Given the description of an element on the screen output the (x, y) to click on. 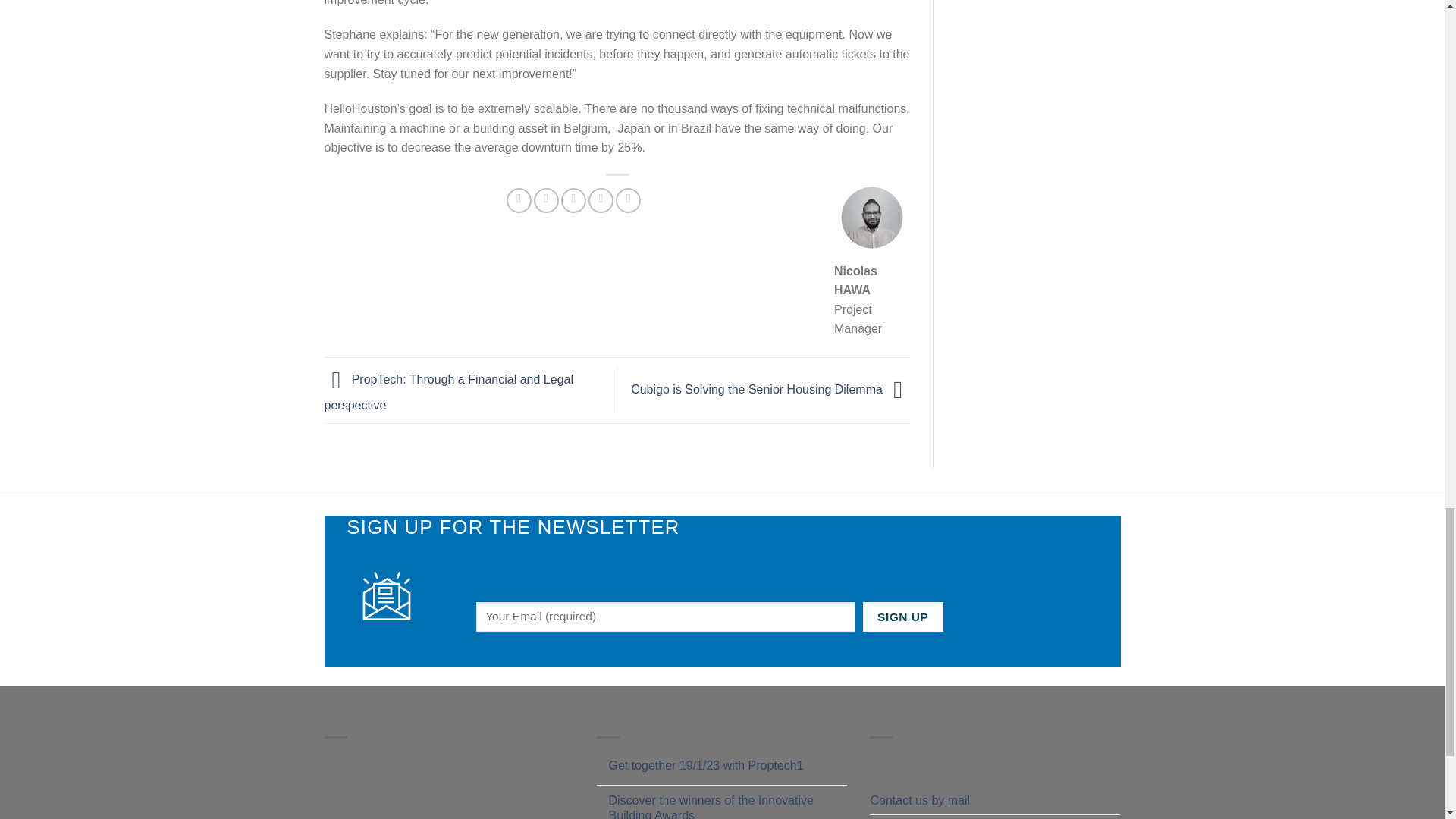
Share on Facebook (518, 200)
Share on Twitter (546, 200)
Email to a Friend (573, 200)
Sign Up (903, 616)
PropTech: Through a Financial and Legal perspective (448, 392)
Share on LinkedIn (627, 200)
Pin on Pinterest (600, 200)
Cubigo is Solving the Senior Housing Dilemma (770, 389)
Sign Up (903, 616)
